Given the description of an element on the screen output the (x, y) to click on. 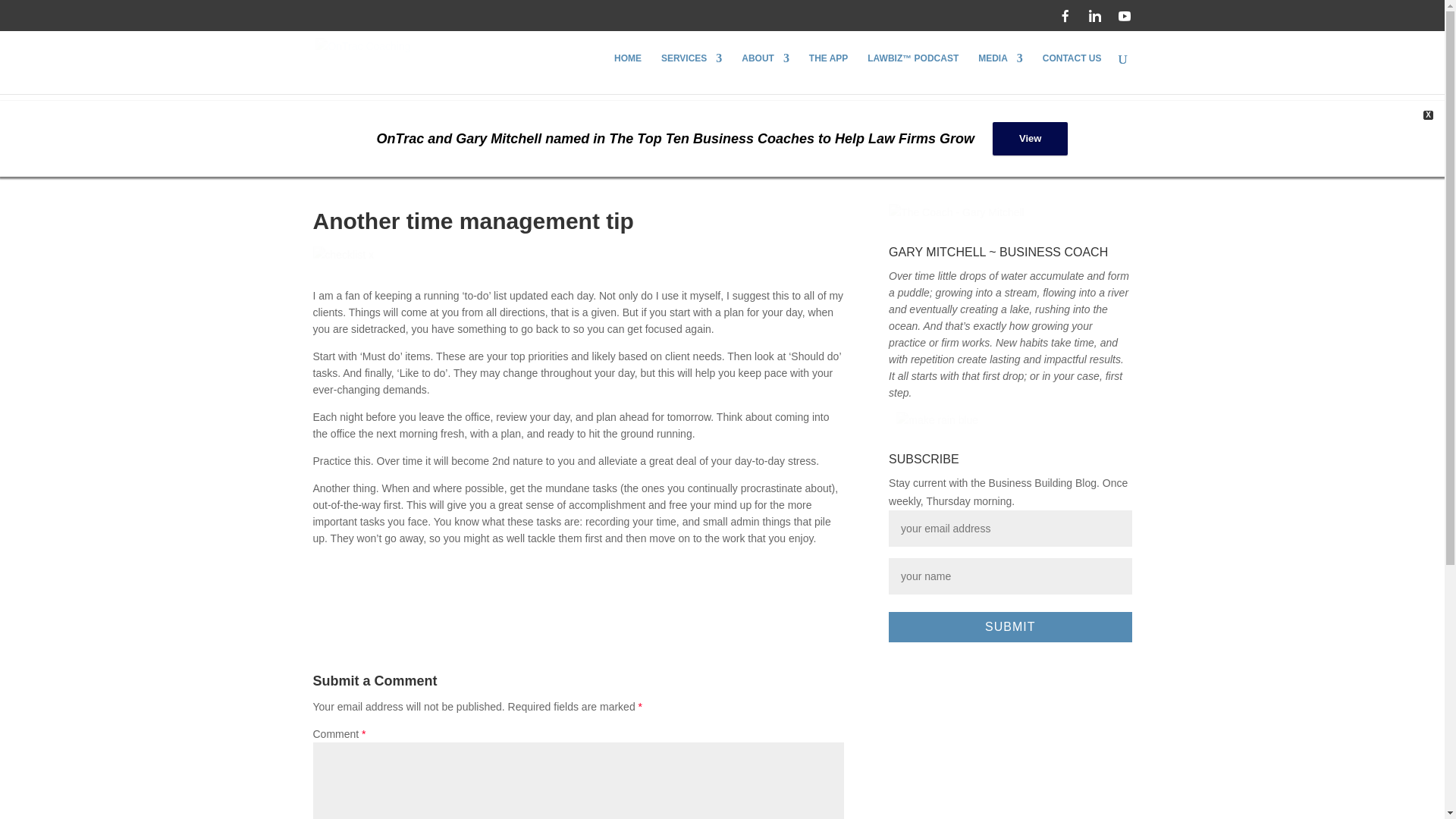
SERVICES (691, 73)
ABOUT (765, 73)
MEDIA (1000, 73)
View (1029, 138)
CONTACT US (1072, 73)
SUBMIT (1009, 626)
THE APP (828, 73)
